Given the description of an element on the screen output the (x, y) to click on. 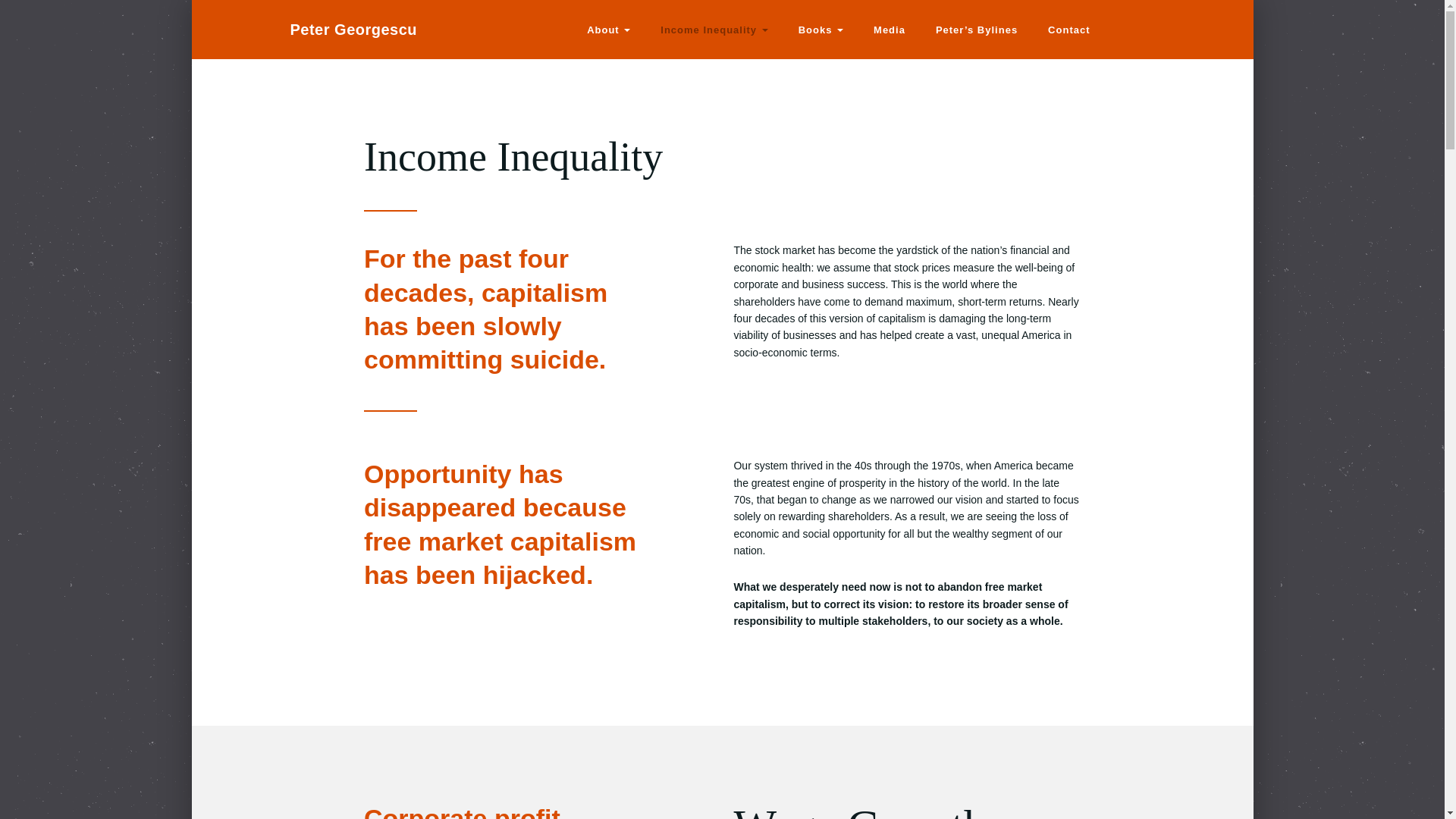
Media (889, 29)
Contact (1068, 29)
Peter Georgescu (358, 29)
Income Inequality (714, 29)
About (608, 29)
Contact (1068, 29)
Books (821, 29)
Books (821, 29)
Media (889, 29)
About (608, 29)
Income Inequality (714, 29)
